Given the description of an element on the screen output the (x, y) to click on. 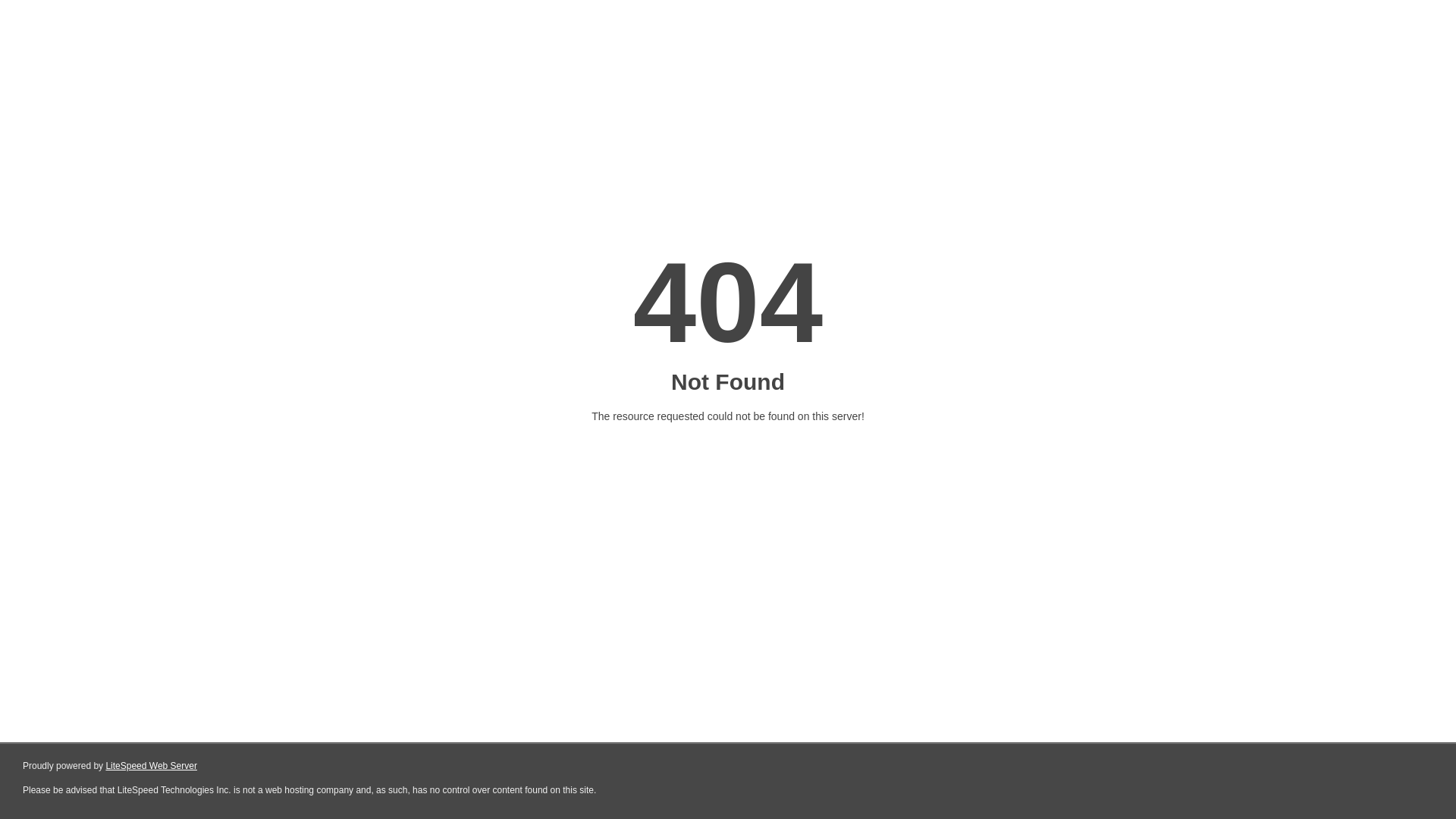
LiteSpeed Web Server Element type: text (151, 765)
